Given the description of an element on the screen output the (x, y) to click on. 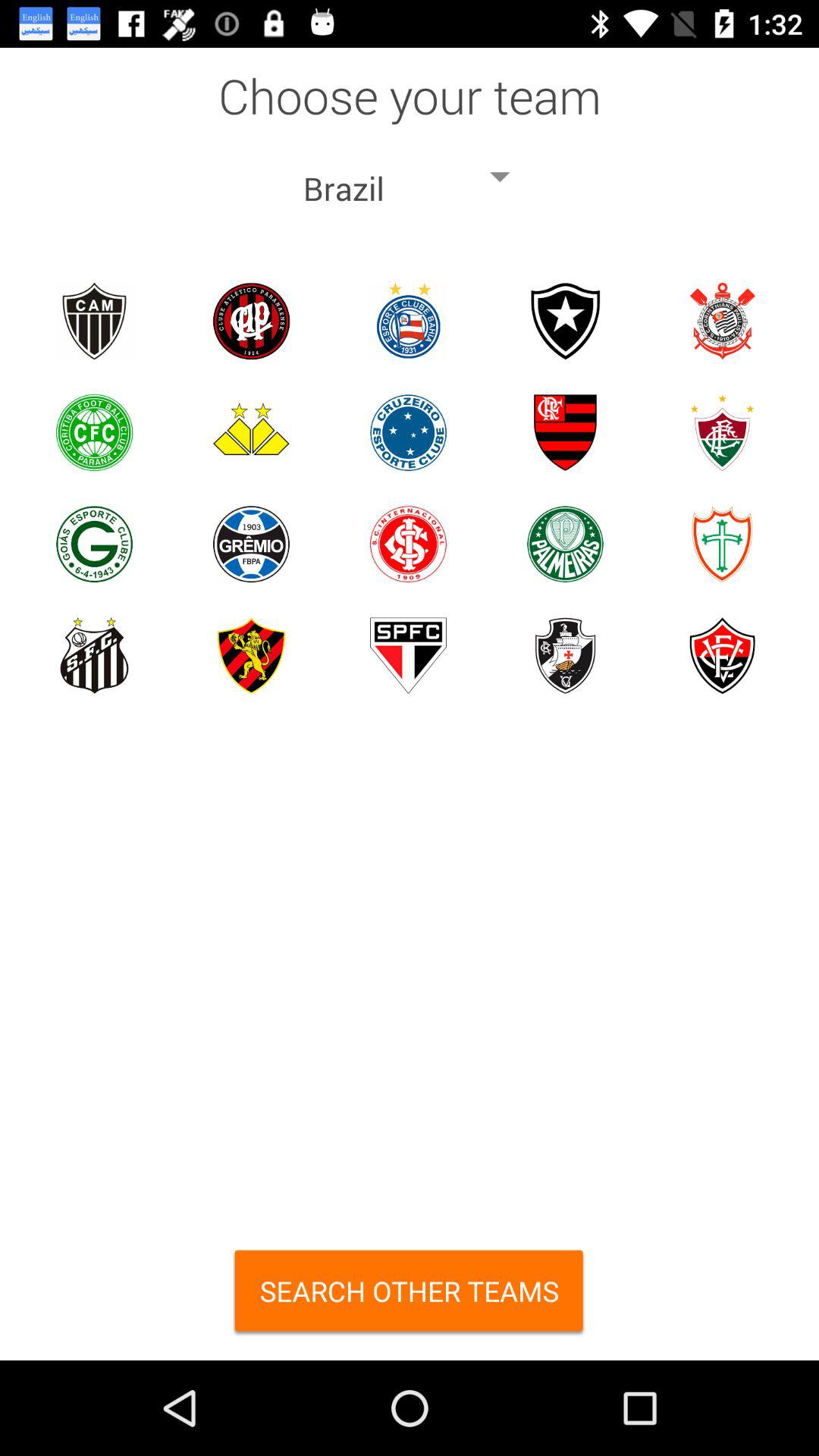
select so paulo futebol clube (408, 655)
